Given the description of an element on the screen output the (x, y) to click on. 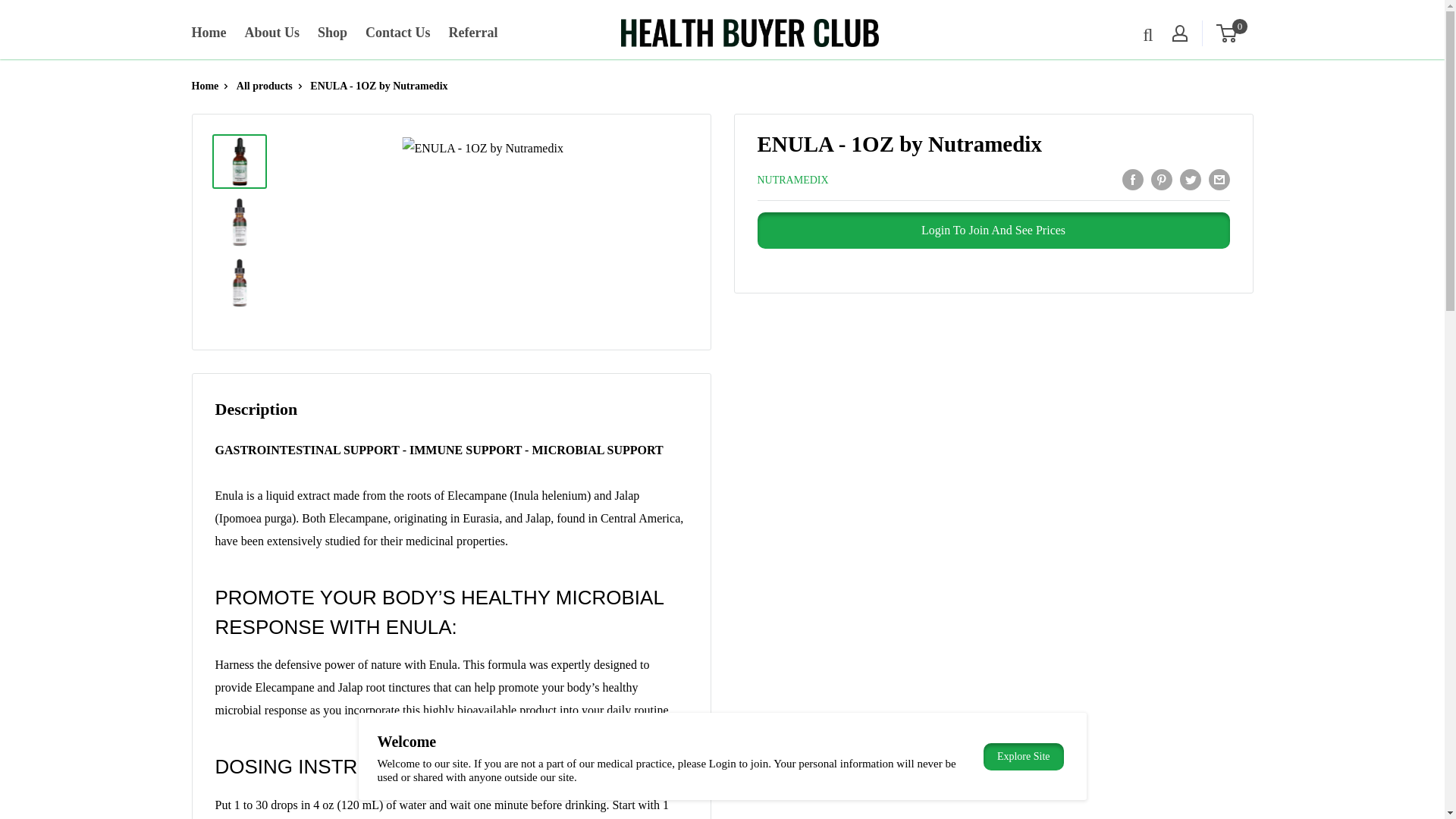
NUTRAMEDIX (792, 179)
All products (263, 85)
0 (1235, 33)
HEALTH BUYER CLUB (750, 32)
Home (207, 32)
Shop (332, 32)
About Us (271, 32)
Referral (472, 32)
Contact Us (397, 32)
Home (204, 85)
Login To Join And See Prices (992, 230)
